Given the description of an element on the screen output the (x, y) to click on. 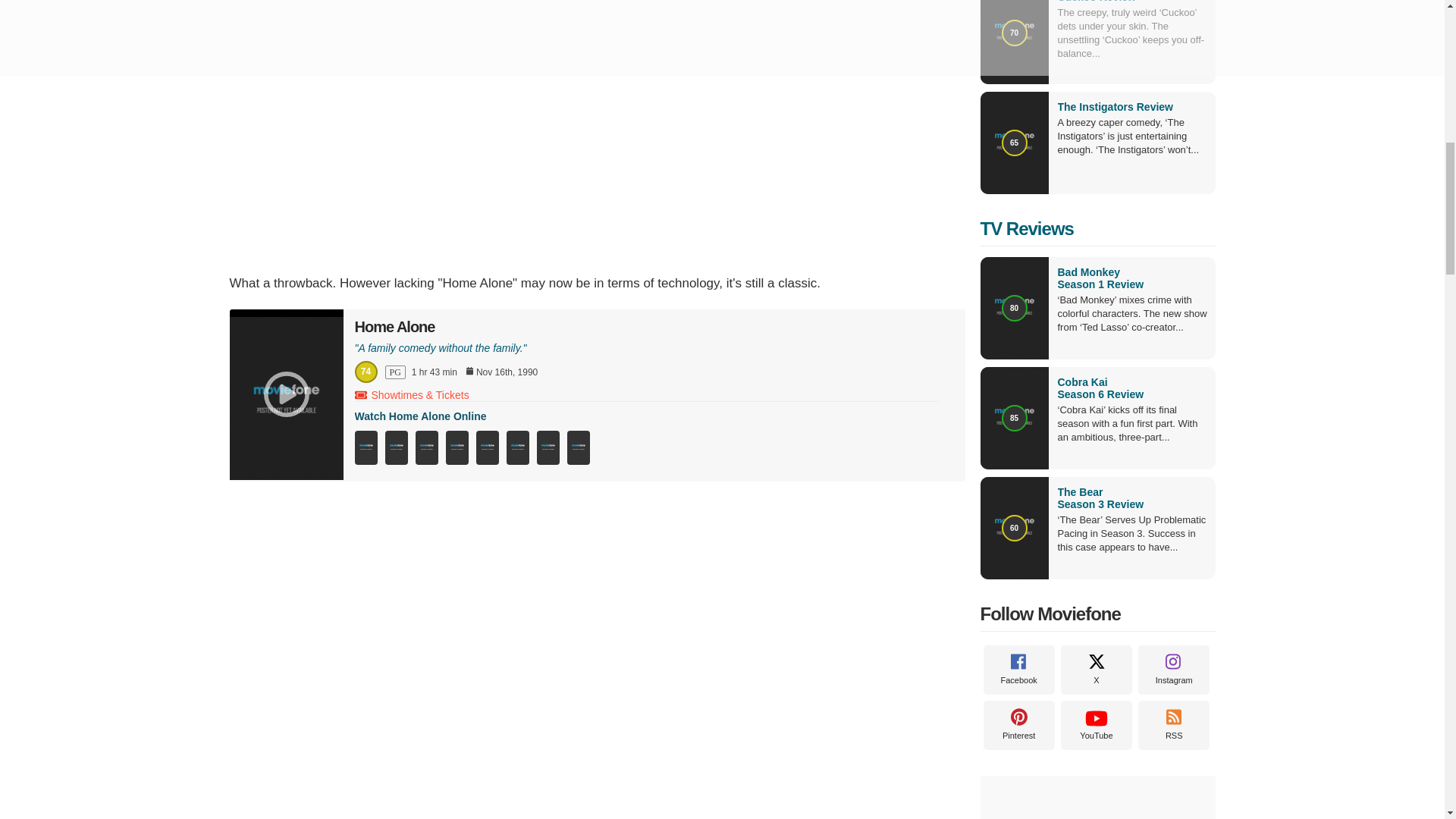
Bad Monkey movie (1132, 278)
Cobra Kai movie (1132, 387)
Cuckoo movie (1096, 1)
The Bear movie (1132, 498)
The Instigators movie (1114, 106)
